Given the description of an element on the screen output the (x, y) to click on. 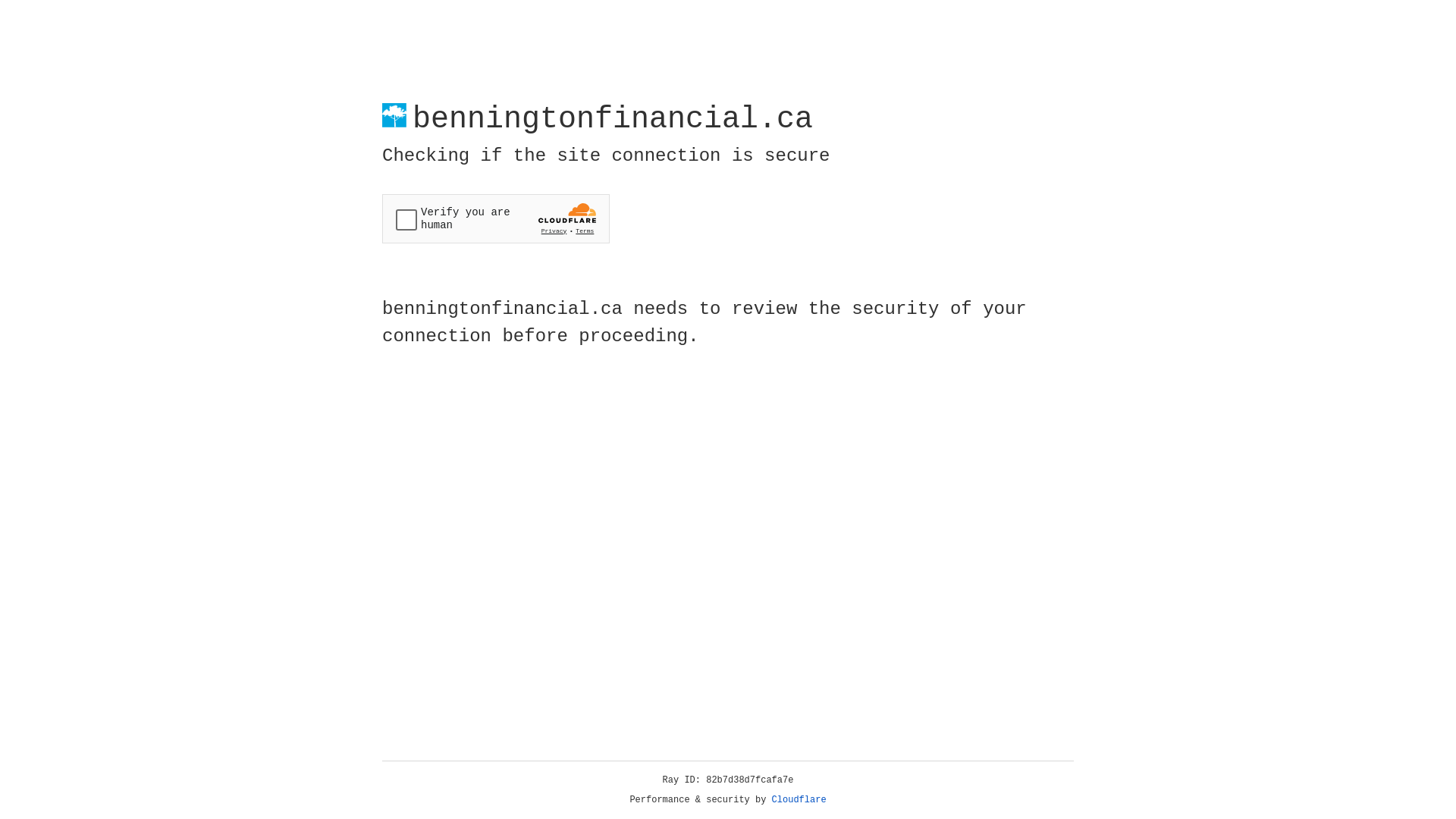
Widget containing a Cloudflare security challenge Element type: hover (495, 218)
Cloudflare Element type: text (798, 799)
